Given the description of an element on the screen output the (x, y) to click on. 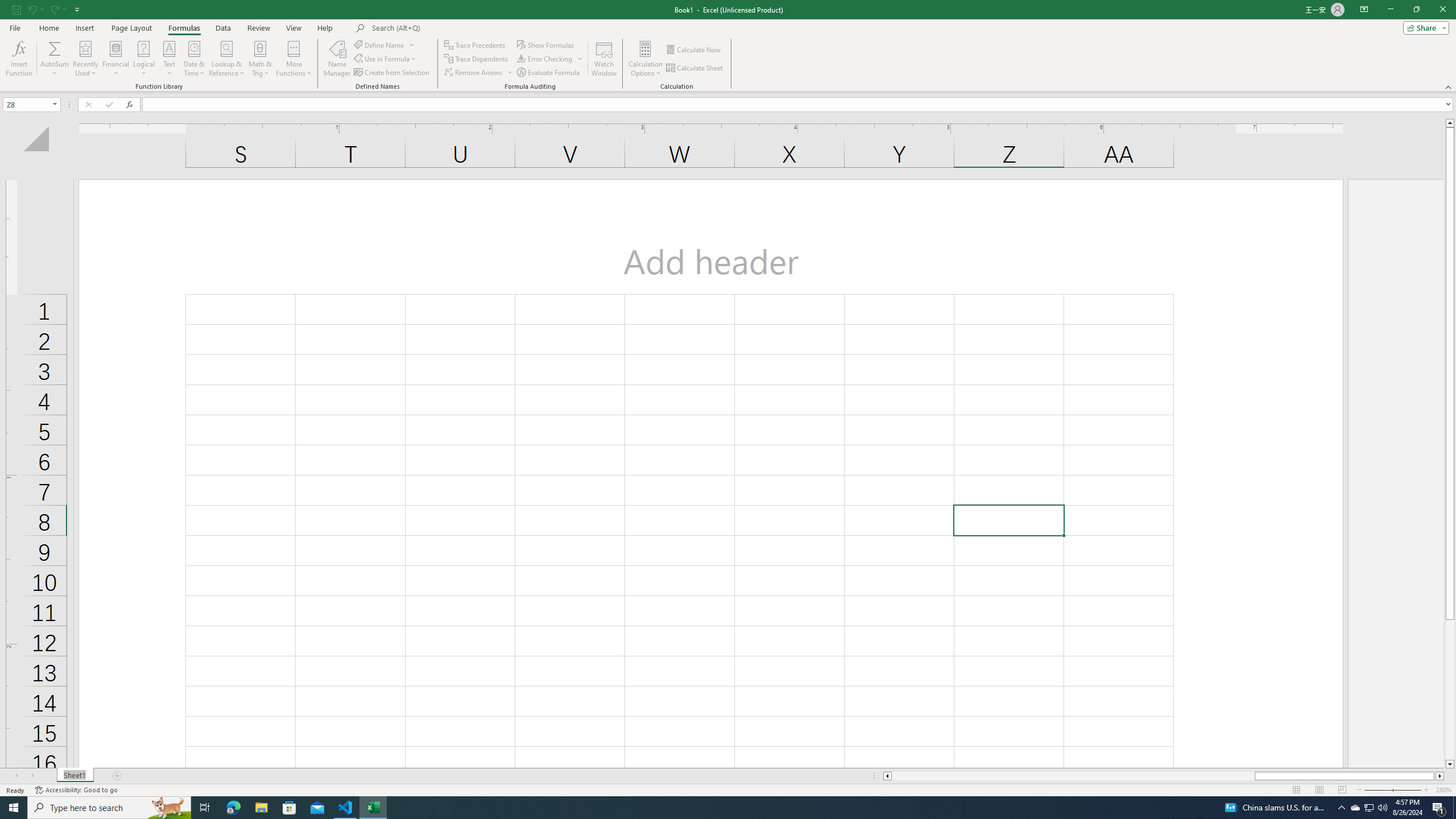
Trace Precedents (475, 44)
Math & Trig (260, 58)
Define Name... (379, 44)
Create from Selection... (392, 72)
